Given the description of an element on the screen output the (x, y) to click on. 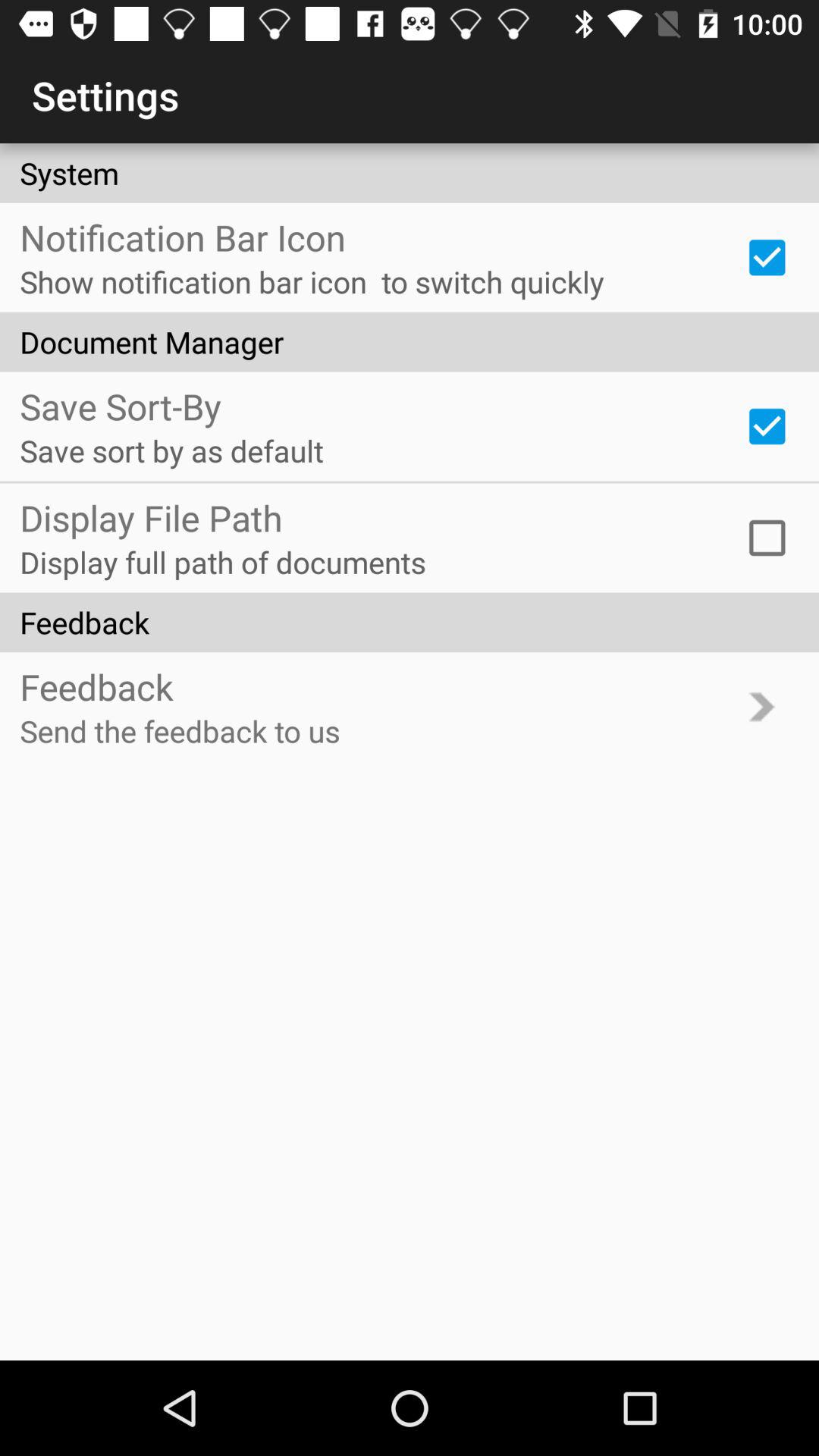
notification bar icon option checkbox (767, 257)
